Given the description of an element on the screen output the (x, y) to click on. 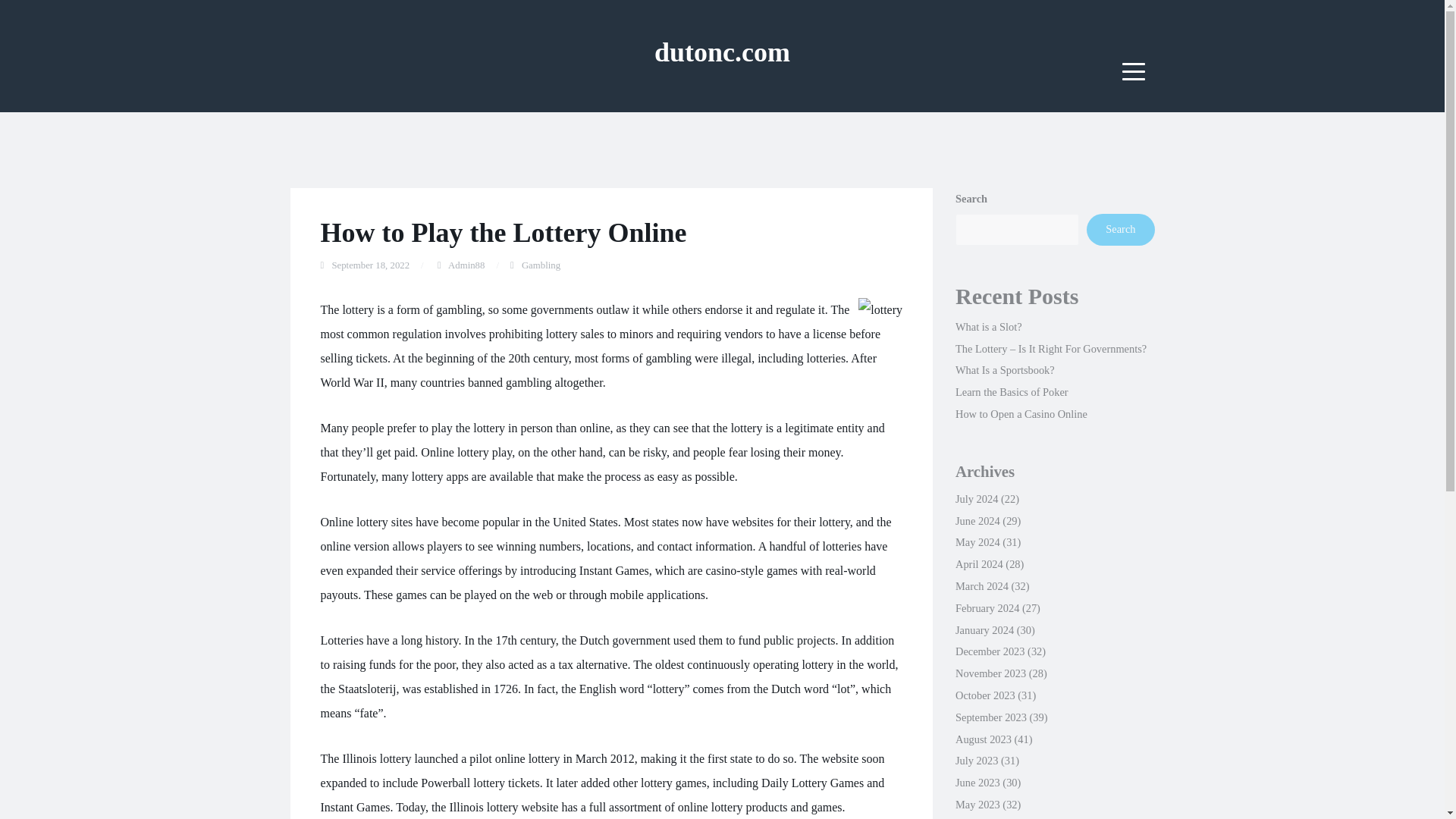
July 2024 (976, 499)
Menu (1133, 71)
Gambling (540, 265)
Learn the Basics of Poker (1011, 391)
August 2023 (983, 739)
Search (1120, 229)
What Is a Sportsbook? (1004, 369)
What is a Slot? (988, 326)
September 2023 (990, 717)
June 2024 (977, 521)
dutonc.com (721, 51)
February 2024 (987, 607)
How to Open a Casino Online (1021, 413)
May 2023 (977, 804)
January 2024 (984, 630)
